Given the description of an element on the screen output the (x, y) to click on. 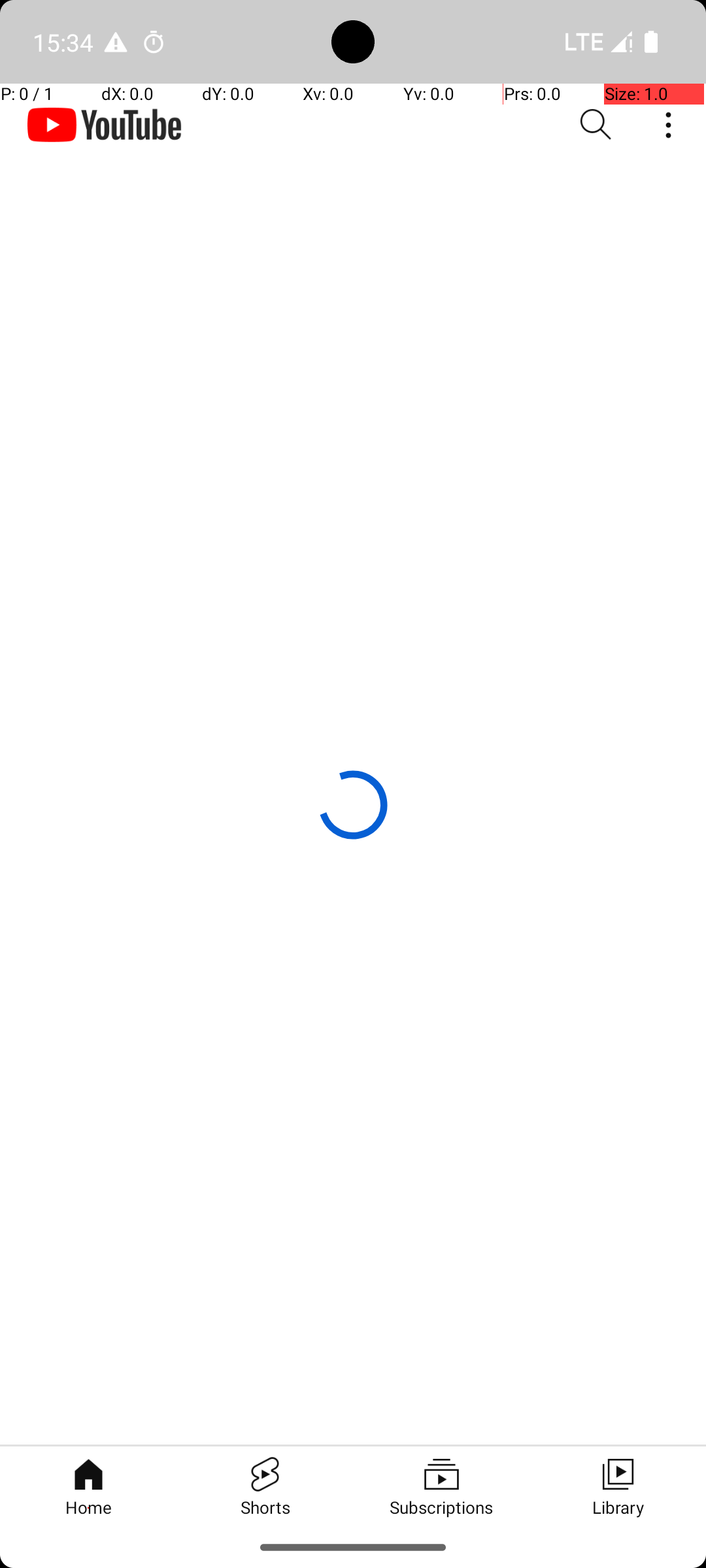
YouTube Element type: android.widget.ImageView (104, 124)
Search Element type: android.widget.Button (595, 124)
More options Element type: android.widget.ImageView (671, 124)
Home Element type: android.widget.Button (88, 1485)
Shorts Element type: android.widget.Button (264, 1485)
Subscriptions Element type: android.widget.Button (441, 1485)
Library Element type: android.widget.Button (617, 1485)
